Given the description of an element on the screen output the (x, y) to click on. 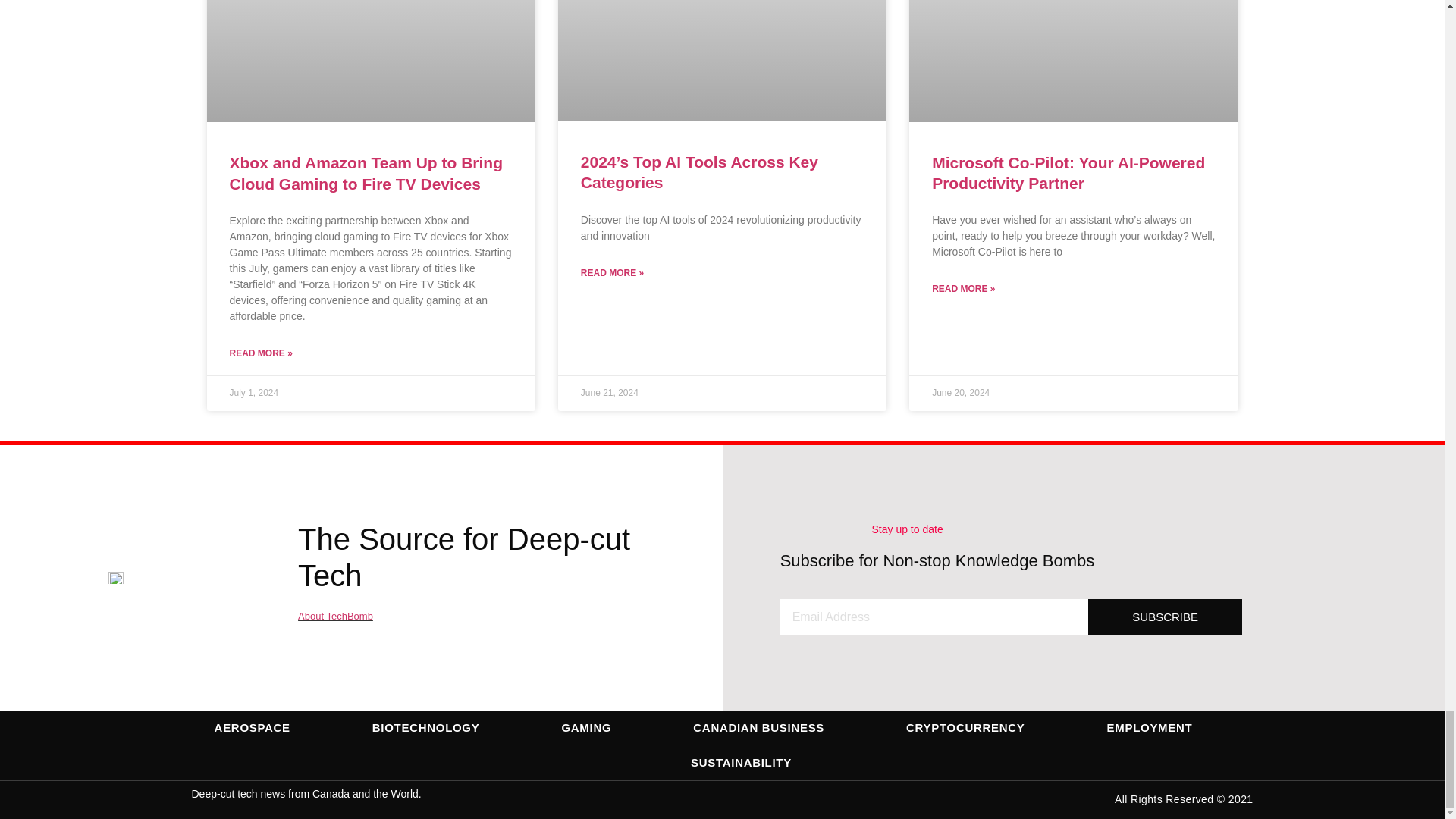
Microsoft Co-Pilot: Your AI-Powered Productivity Partner (1068, 172)
About TechBomb (335, 615)
